Given the description of an element on the screen output the (x, y) to click on. 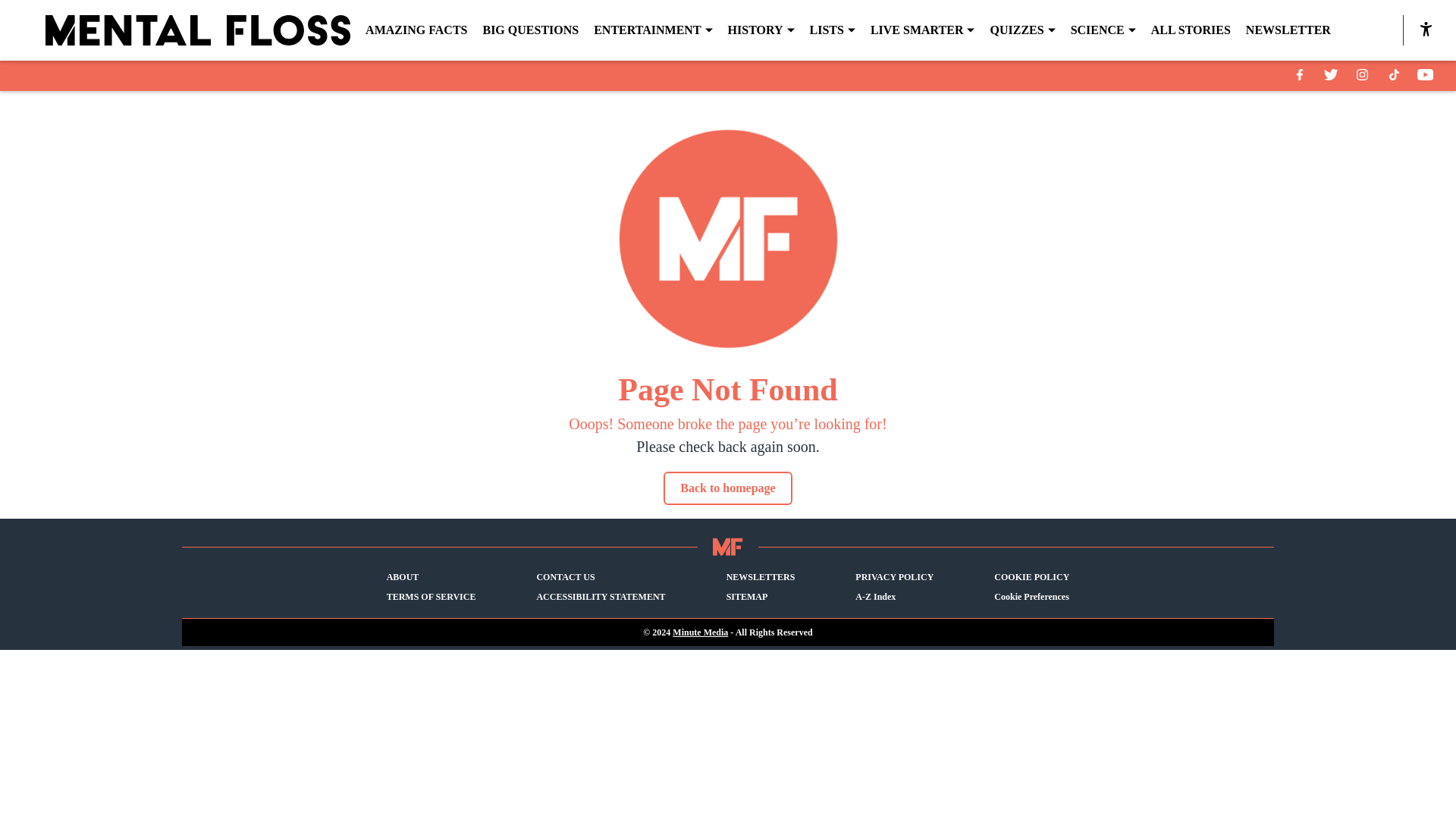
Error image (727, 238)
NEWSLETTER (1288, 30)
ALL STORIES (1190, 30)
BIG QUESTIONS (529, 30)
AMAZING FACTS (416, 30)
